Given the description of an element on the screen output the (x, y) to click on. 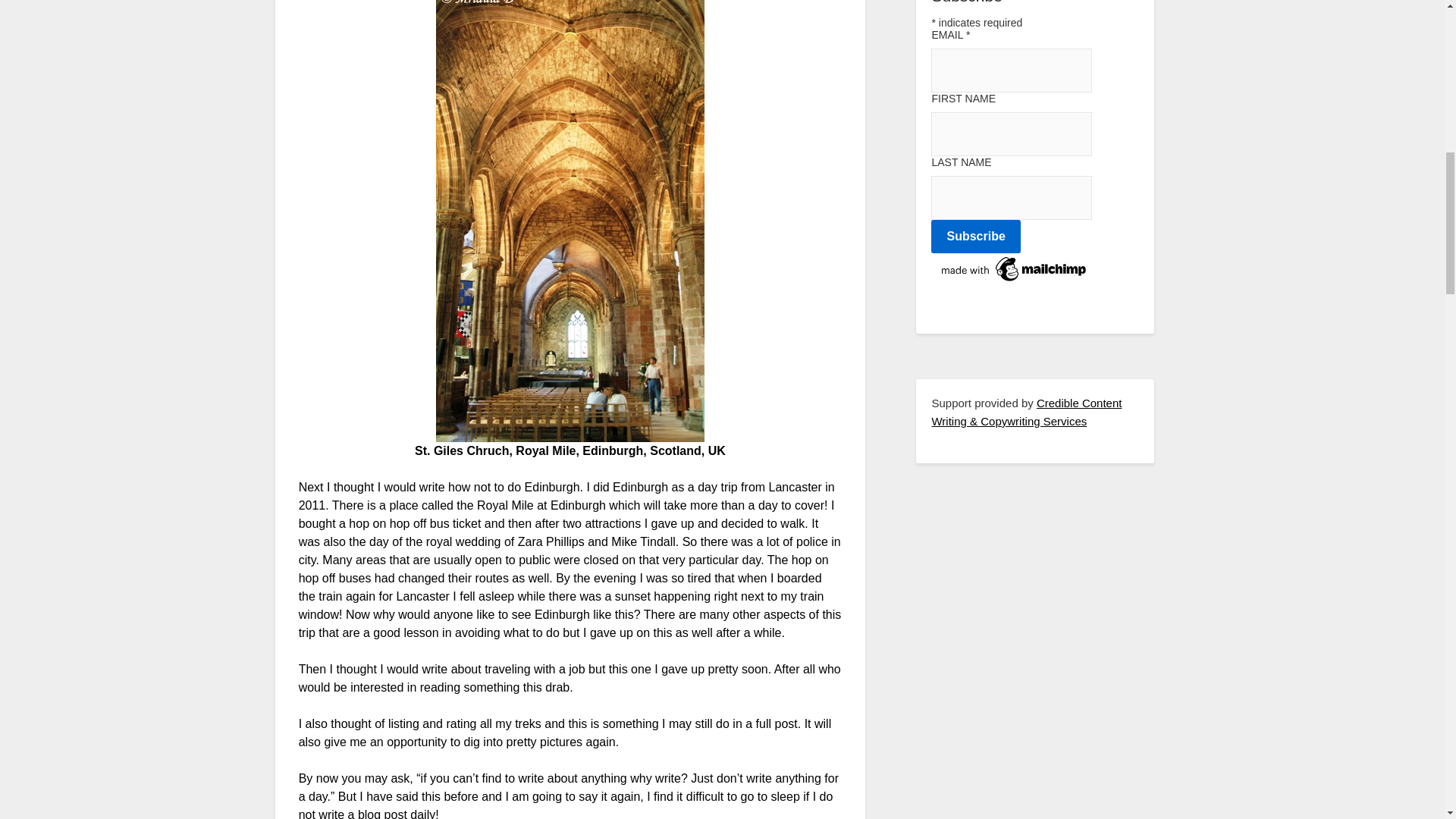
Mailchimp - email marketing made easy and fun (1014, 280)
Subscribe (975, 236)
